Given the description of an element on the screen output the (x, y) to click on. 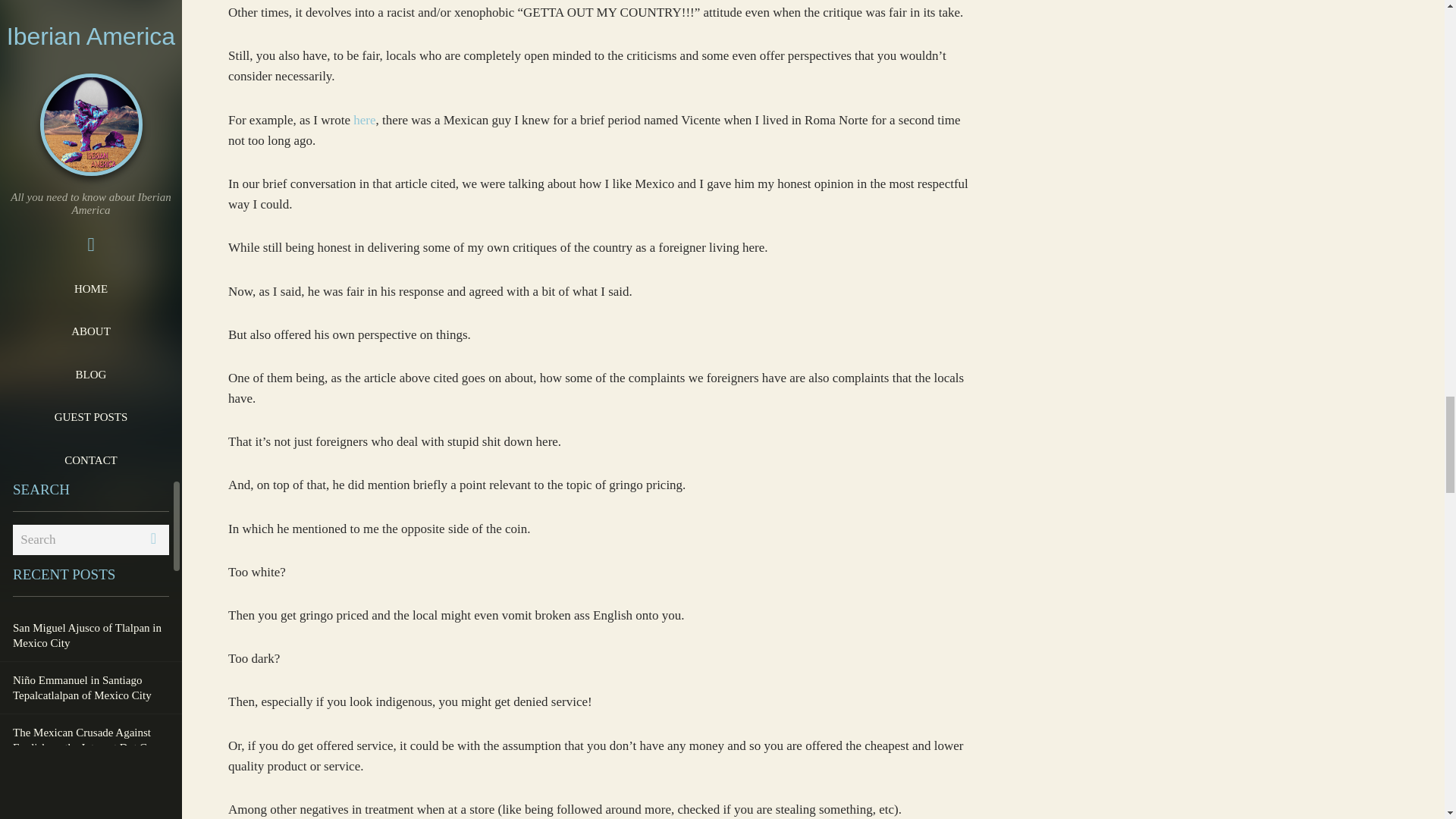
here (364, 120)
